Given the description of an element on the screen output the (x, y) to click on. 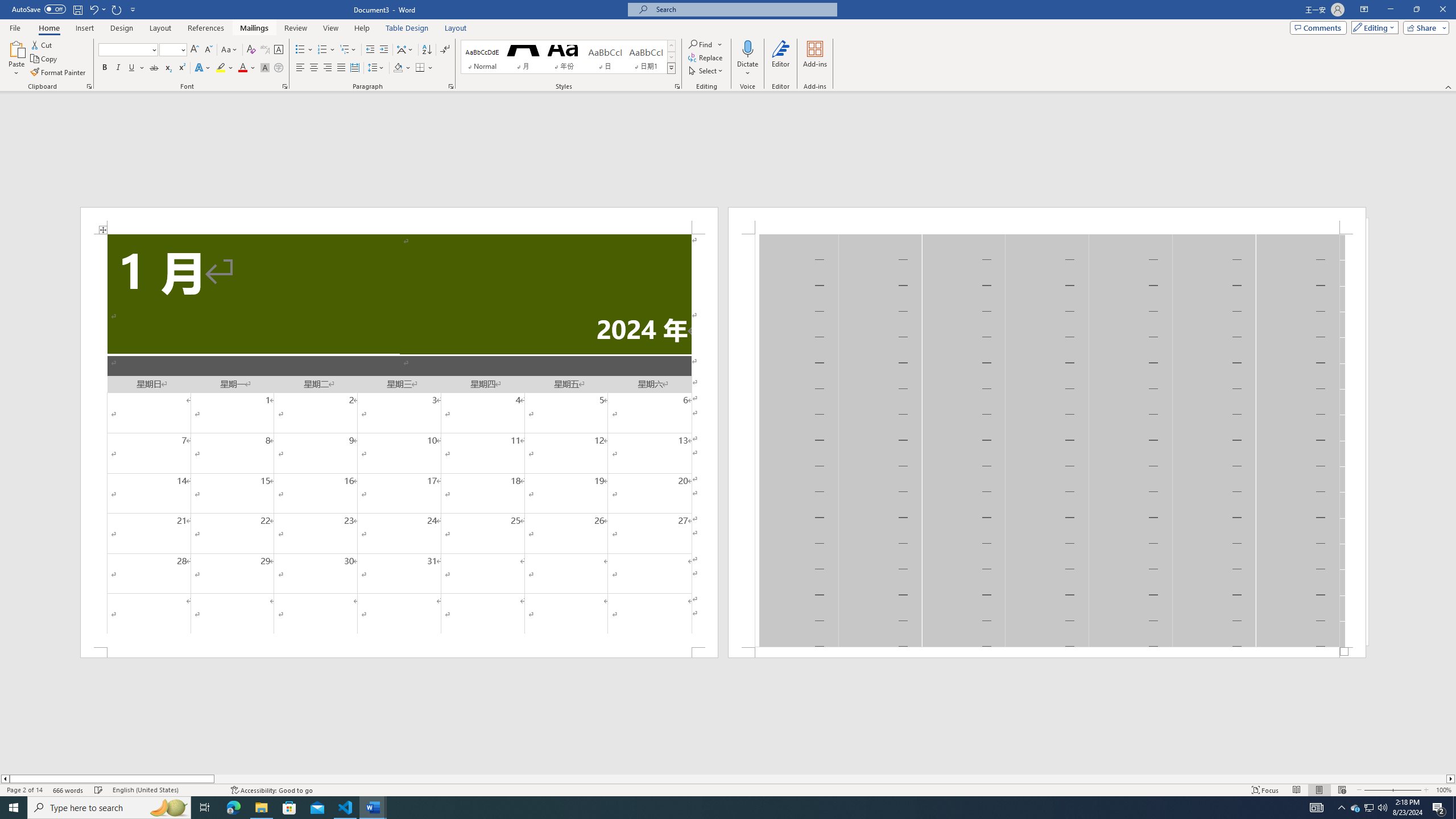
Font Color RGB(255, 0, 0) (241, 67)
Page right (829, 778)
